Given the description of an element on the screen output the (x, y) to click on. 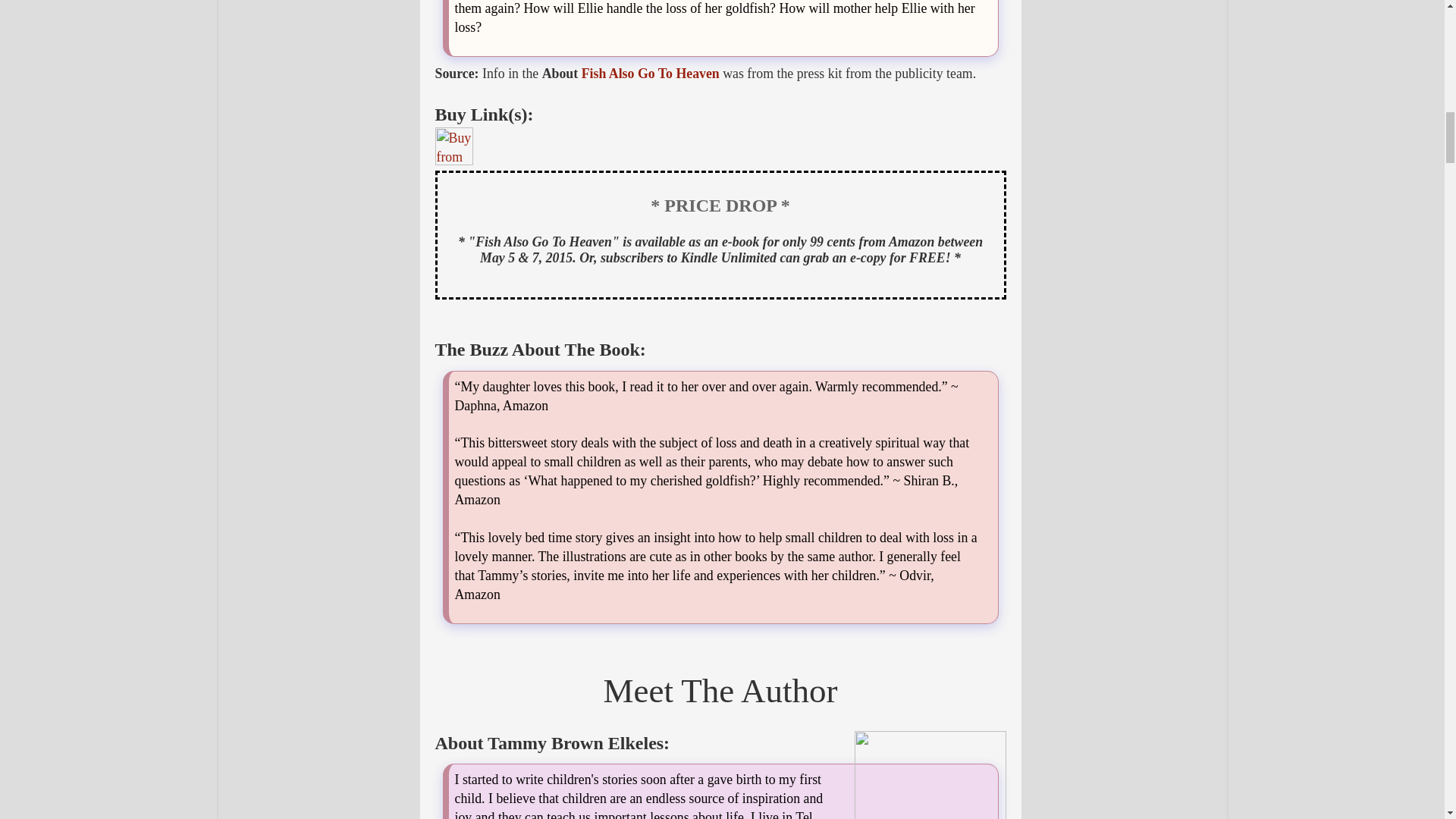
Fish Also Go To Heaven (649, 73)
Buy from amazon. (454, 146)
